Given the description of an element on the screen output the (x, y) to click on. 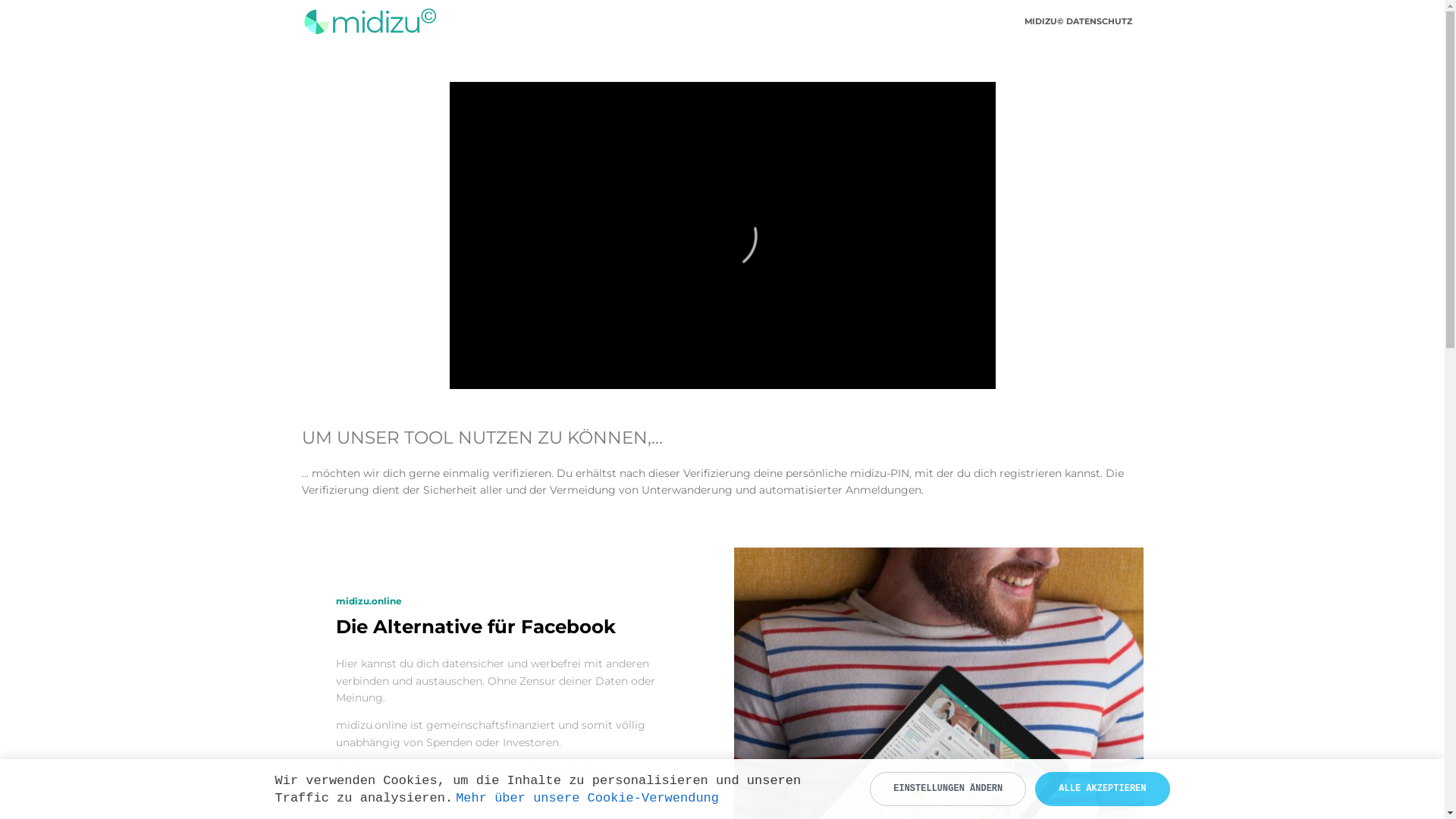
  Element type: text (336, 797)
